Given the description of an element on the screen output the (x, y) to click on. 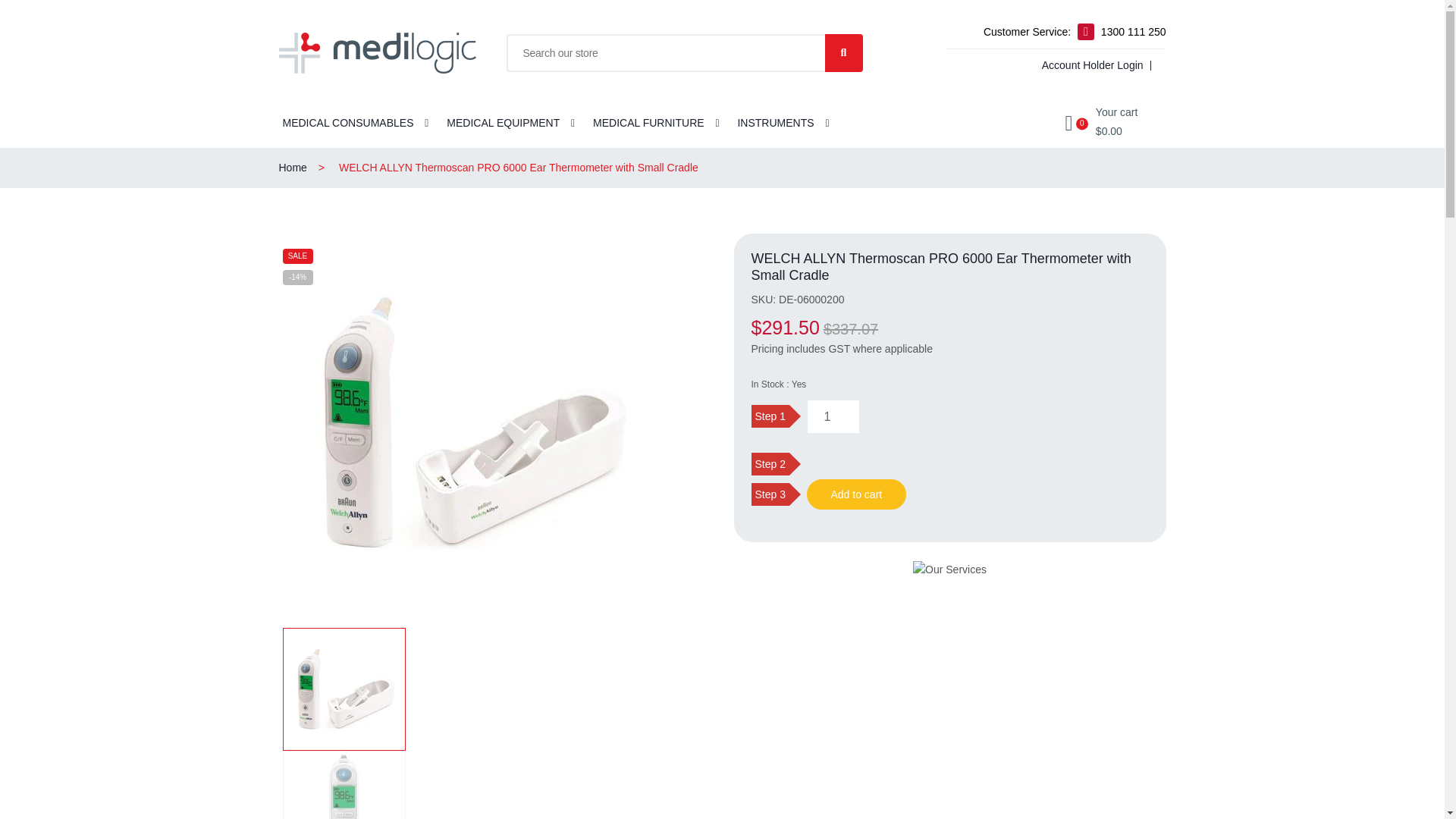
MEDICAL CONSUMABLES (347, 123)
1300 111 250 (1133, 31)
Account Holder Login (1089, 65)
1 (833, 416)
Back to the home page (307, 167)
